Given the description of an element on the screen output the (x, y) to click on. 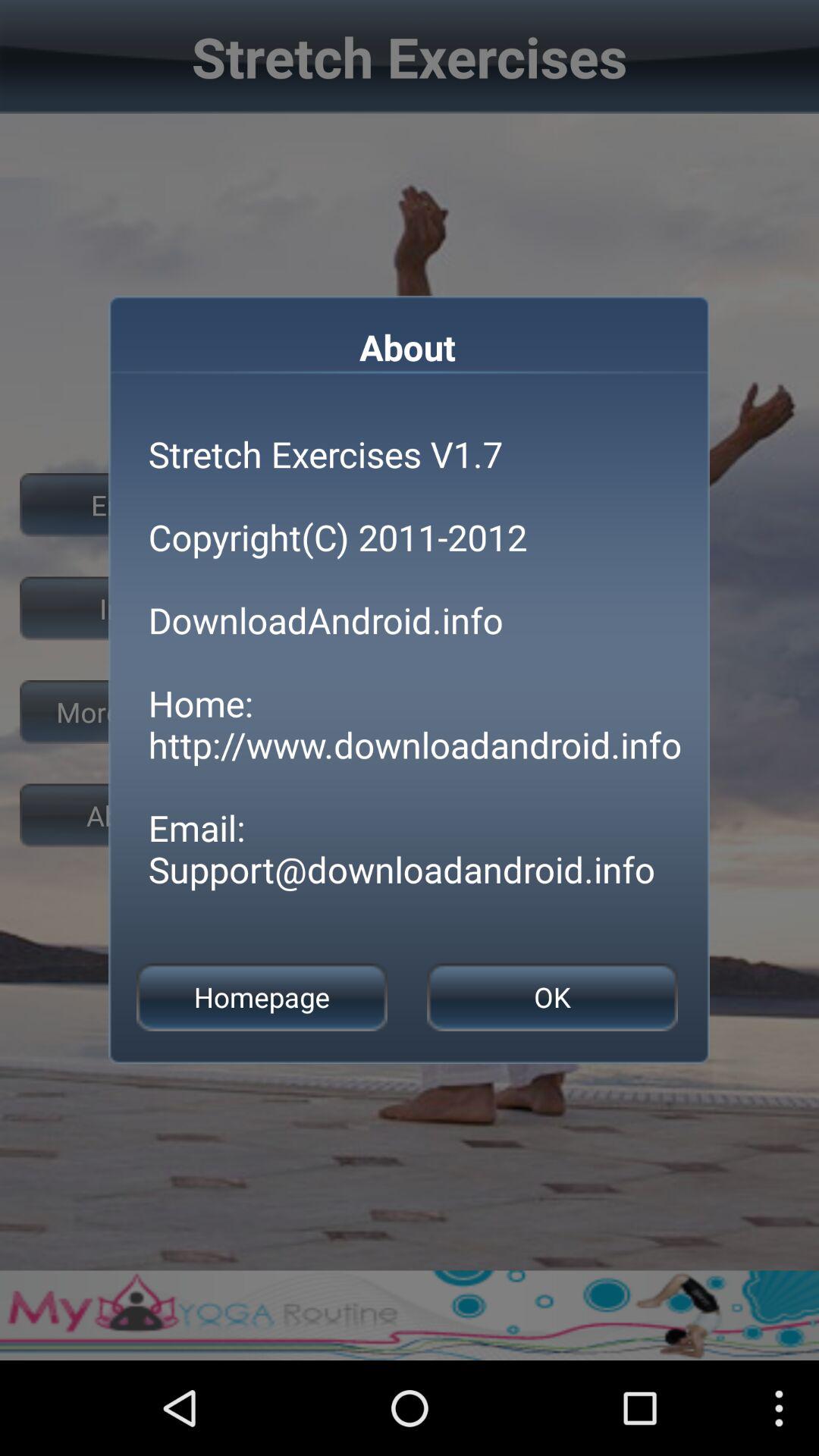
tap ok (552, 997)
